Given the description of an element on the screen output the (x, y) to click on. 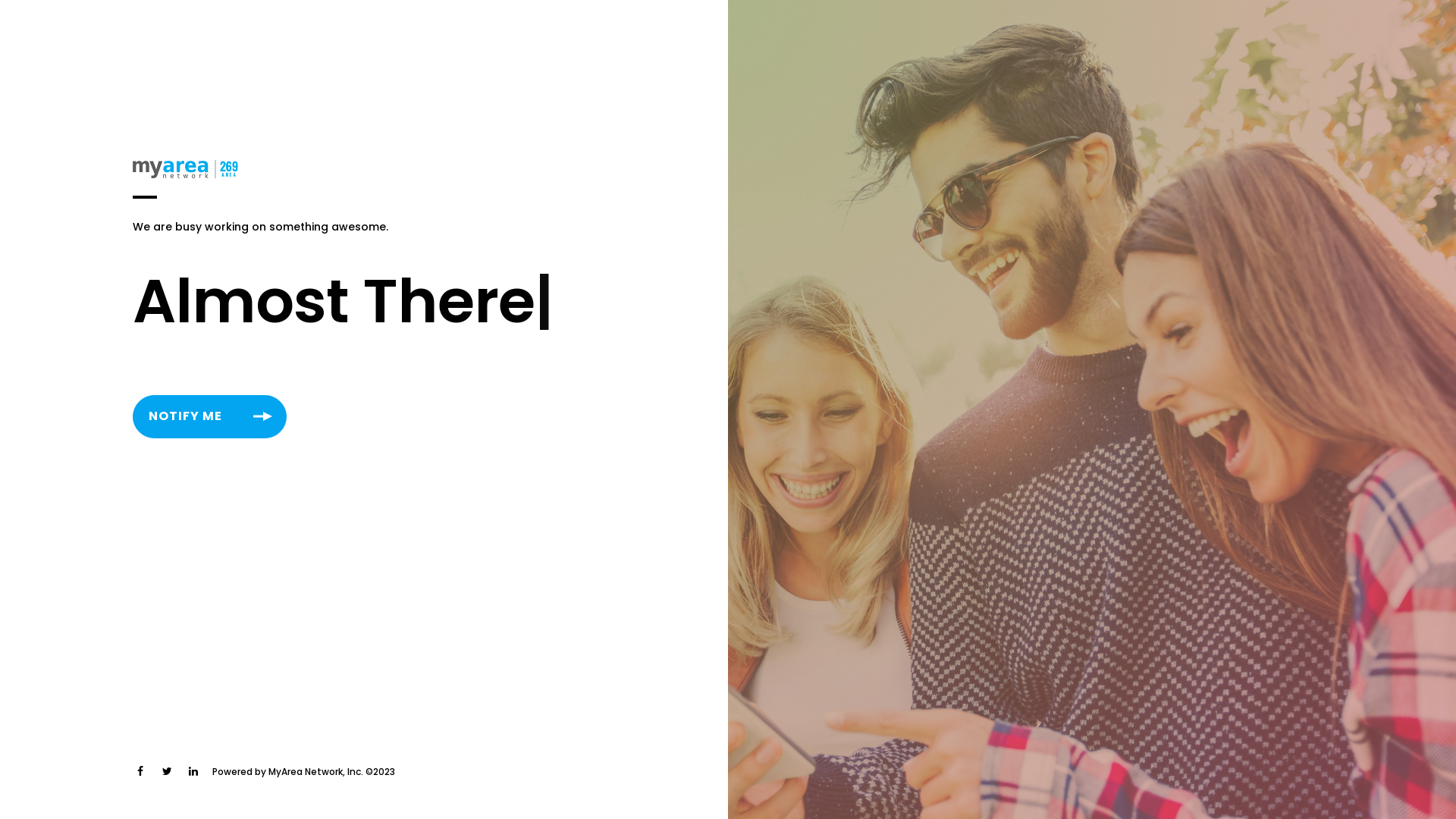
NOTIFY ME Element type: text (209, 416)
